Given the description of an element on the screen output the (x, y) to click on. 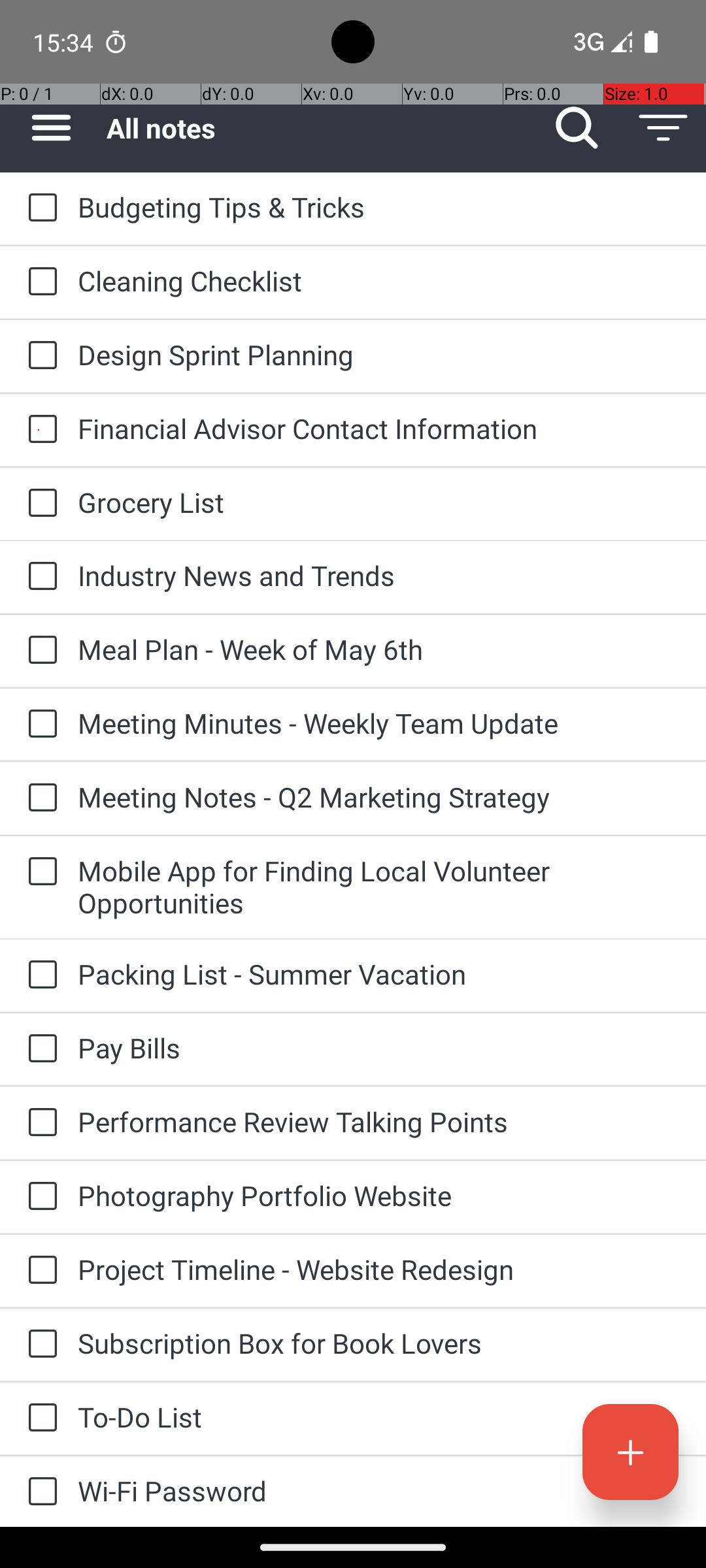
to-do: Cleaning Checklist Element type: android.widget.CheckBox (38, 282)
Cleaning Checklist Element type: android.widget.TextView (378, 280)
to-do: Industry News and Trends Element type: android.widget.CheckBox (38, 576)
Industry News and Trends Element type: android.widget.TextView (378, 574)
to-do: Meal Plan - Week of May 6th Element type: android.widget.CheckBox (38, 650)
Meal Plan - Week of May 6th Element type: android.widget.TextView (378, 648)
to-do: Meeting Minutes - Weekly Team Update Element type: android.widget.CheckBox (38, 724)
Meeting Minutes - Weekly Team Update Element type: android.widget.TextView (378, 722)
to-do: Meeting Notes - Q2 Marketing Strategy Element type: android.widget.CheckBox (38, 798)
Meeting Notes - Q2 Marketing Strategy Element type: android.widget.TextView (378, 796)
to-do: Mobile App for Finding Local Volunteer Opportunities Element type: android.widget.CheckBox (38, 872)
Mobile App for Finding Local Volunteer Opportunities Element type: android.widget.TextView (378, 886)
to-do: Packing List - Summer Vacation Element type: android.widget.CheckBox (38, 975)
Packing List - Summer Vacation Element type: android.widget.TextView (378, 973)
to-do: Pay Bills Element type: android.widget.CheckBox (38, 1049)
to-do: Performance Review Talking Points Element type: android.widget.CheckBox (38, 1123)
Performance Review Talking Points Element type: android.widget.TextView (378, 1121)
to-do: Photography Portfolio Website Element type: android.widget.CheckBox (38, 1196)
Photography Portfolio Website Element type: android.widget.TextView (378, 1194)
to-do: Subscription Box for Book Lovers Element type: android.widget.CheckBox (38, 1344)
Subscription Box for Book Lovers Element type: android.widget.TextView (378, 1342)
to-do: To-Do List Element type: android.widget.CheckBox (38, 1418)
To-Do List Element type: android.widget.TextView (378, 1416)
to-do: Wi-Fi Password Element type: android.widget.CheckBox (38, 1491)
Wi-Fi Password Element type: android.widget.TextView (378, 1490)
